Given the description of an element on the screen output the (x, y) to click on. 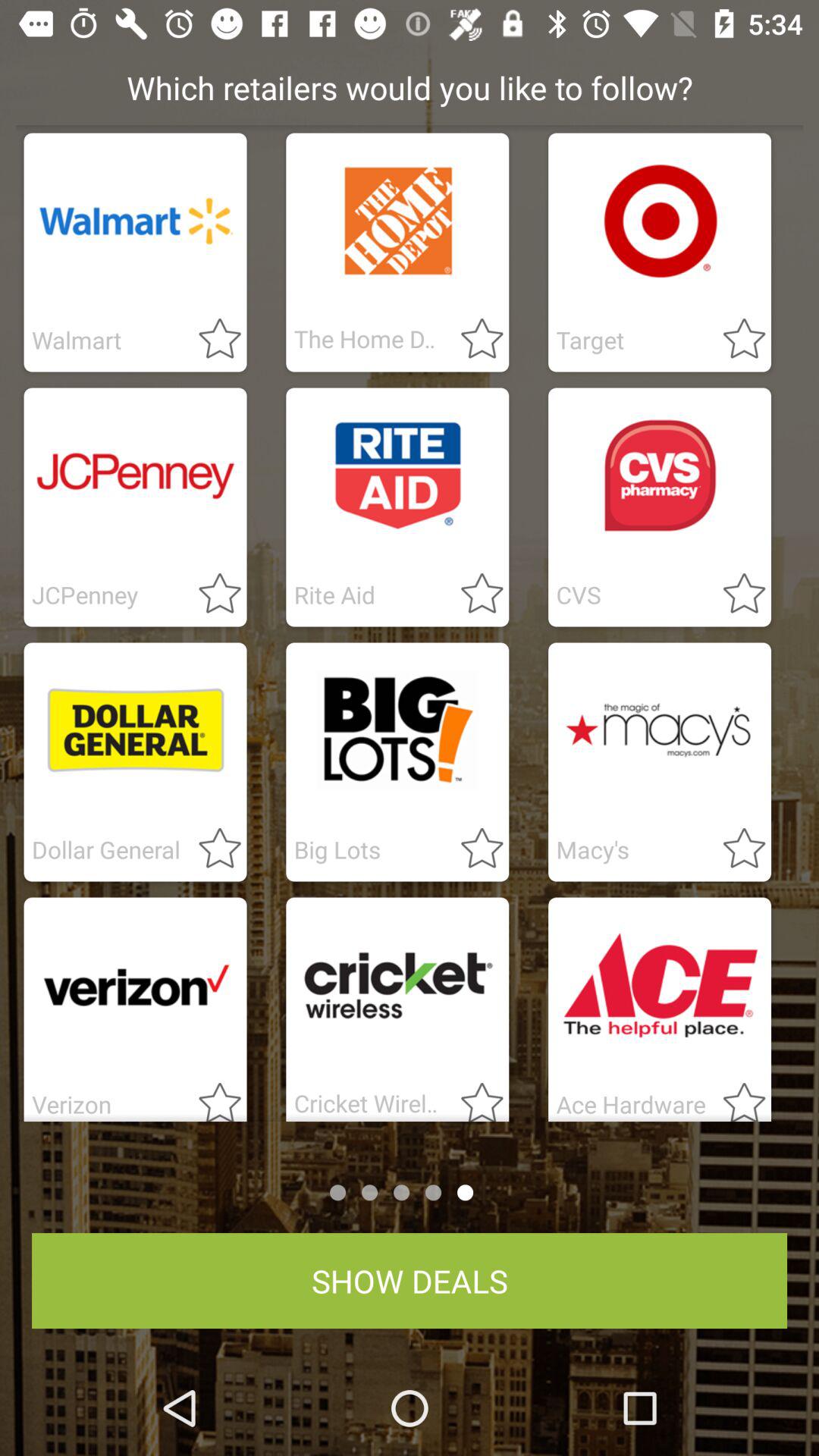
rate star (735, 594)
